Given the description of an element on the screen output the (x, y) to click on. 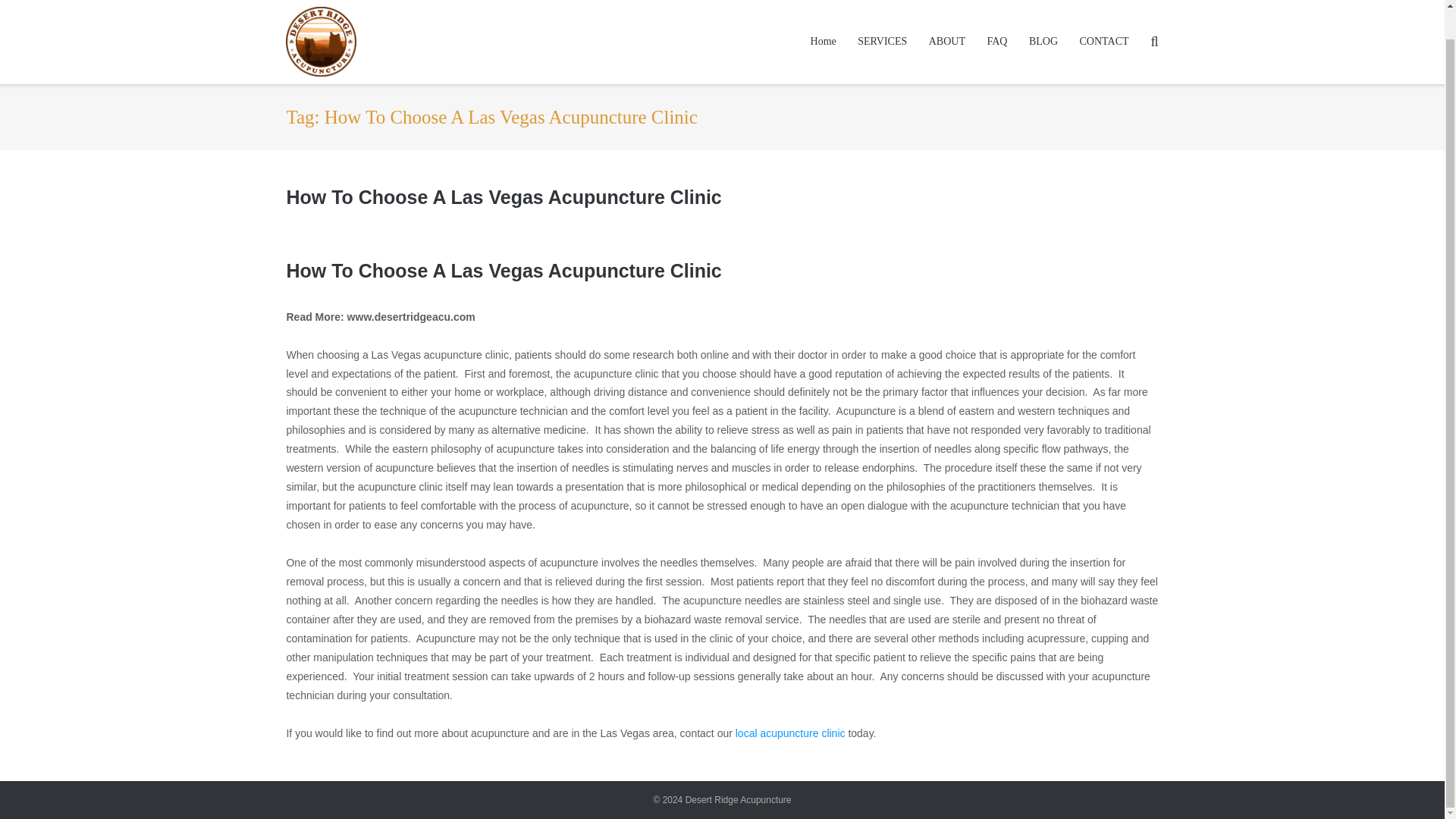
SERVICES (882, 42)
BLOG (1043, 42)
CONTACT (1104, 42)
Home (822, 42)
Desert Ridge Acupuncture (738, 799)
How To Choose A Las Vegas Acupuncture Clinic (502, 197)
local acupuncture clinic (790, 733)
FAQ (997, 42)
ABOUT (946, 42)
